Given the description of an element on the screen output the (x, y) to click on. 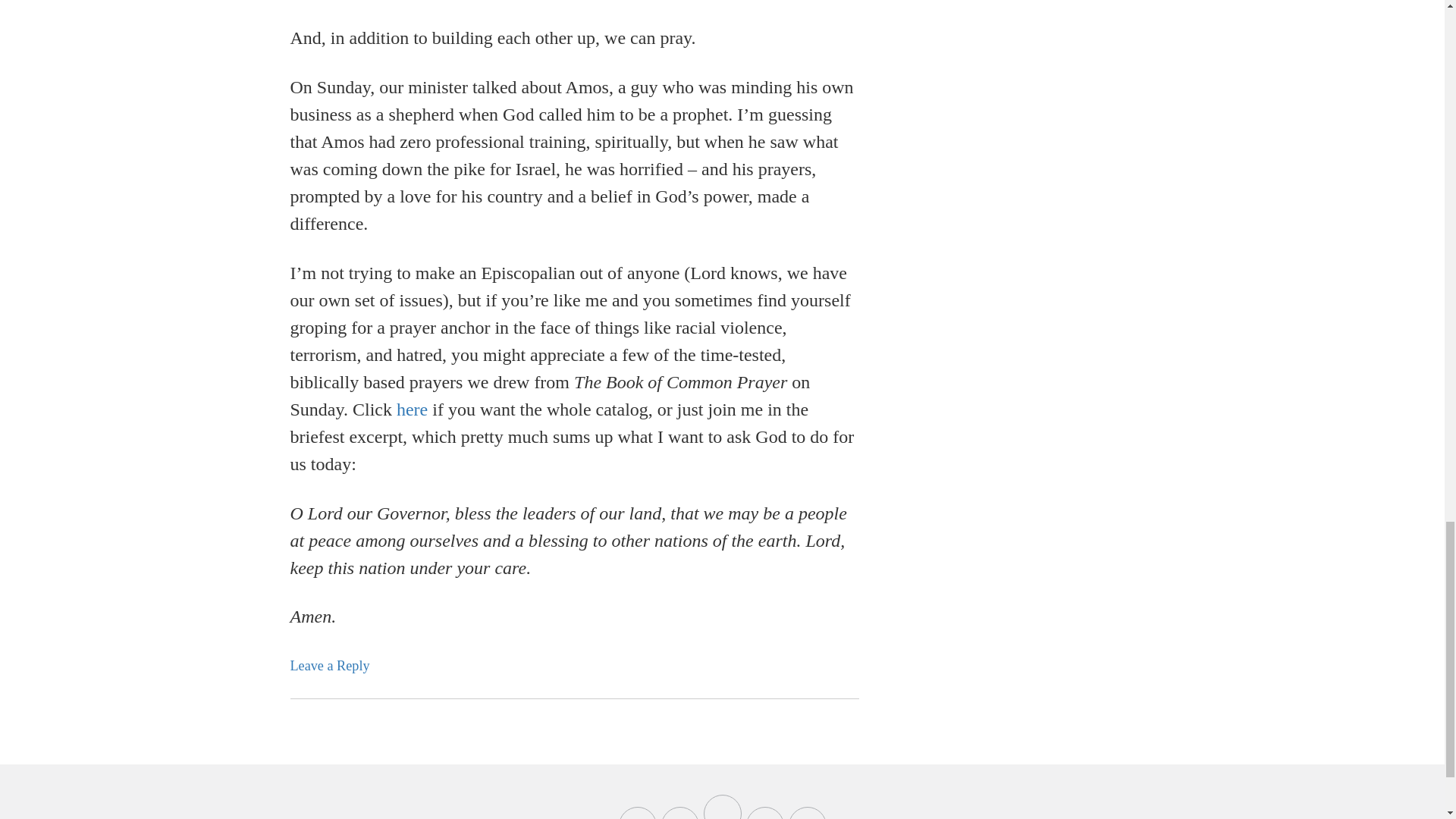
Leave a Reply (329, 665)
here (412, 409)
